Given the description of an element on the screen output the (x, y) to click on. 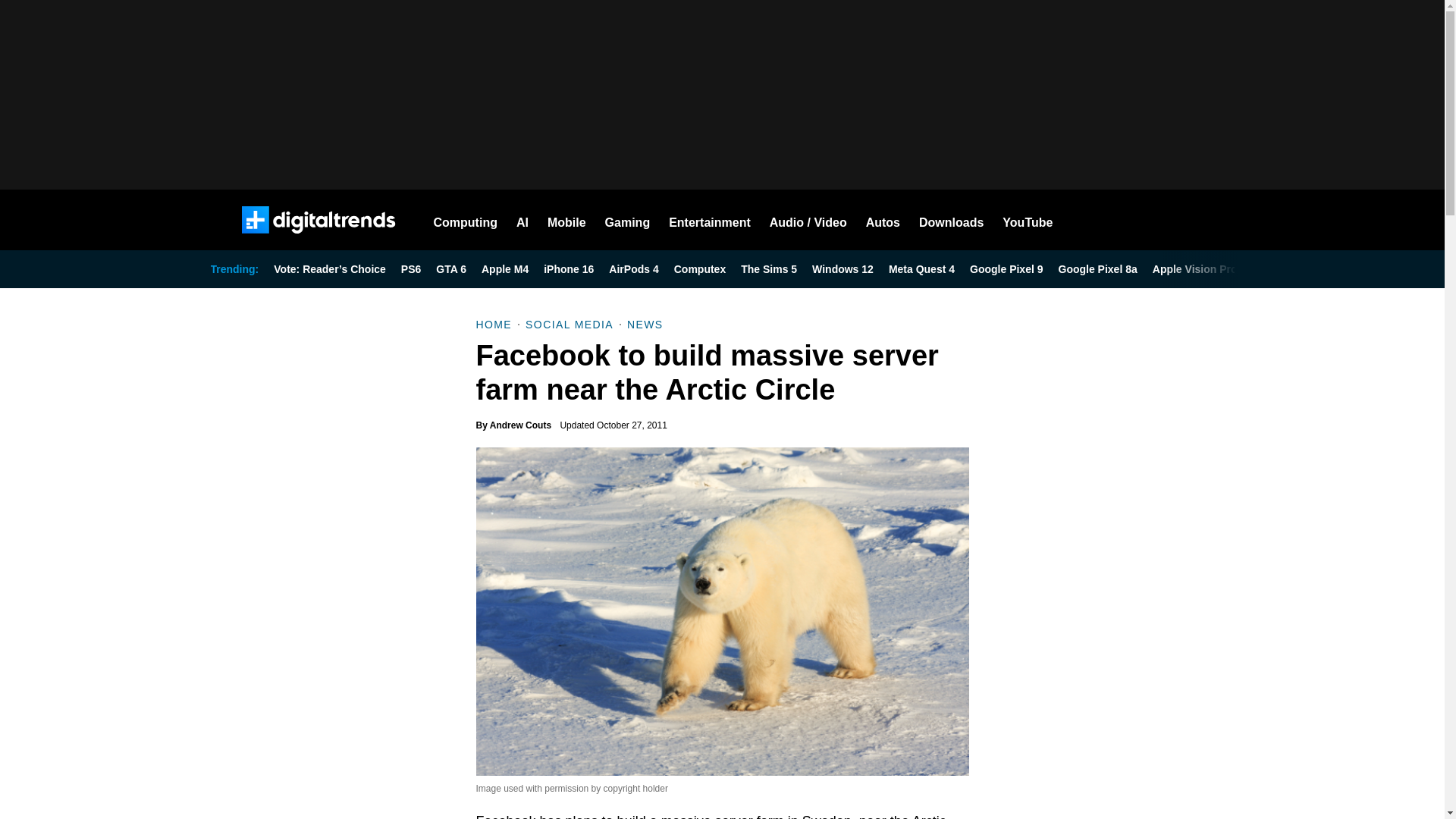
Entertainment (709, 219)
Computing (465, 219)
Downloads (951, 219)
